Given the description of an element on the screen output the (x, y) to click on. 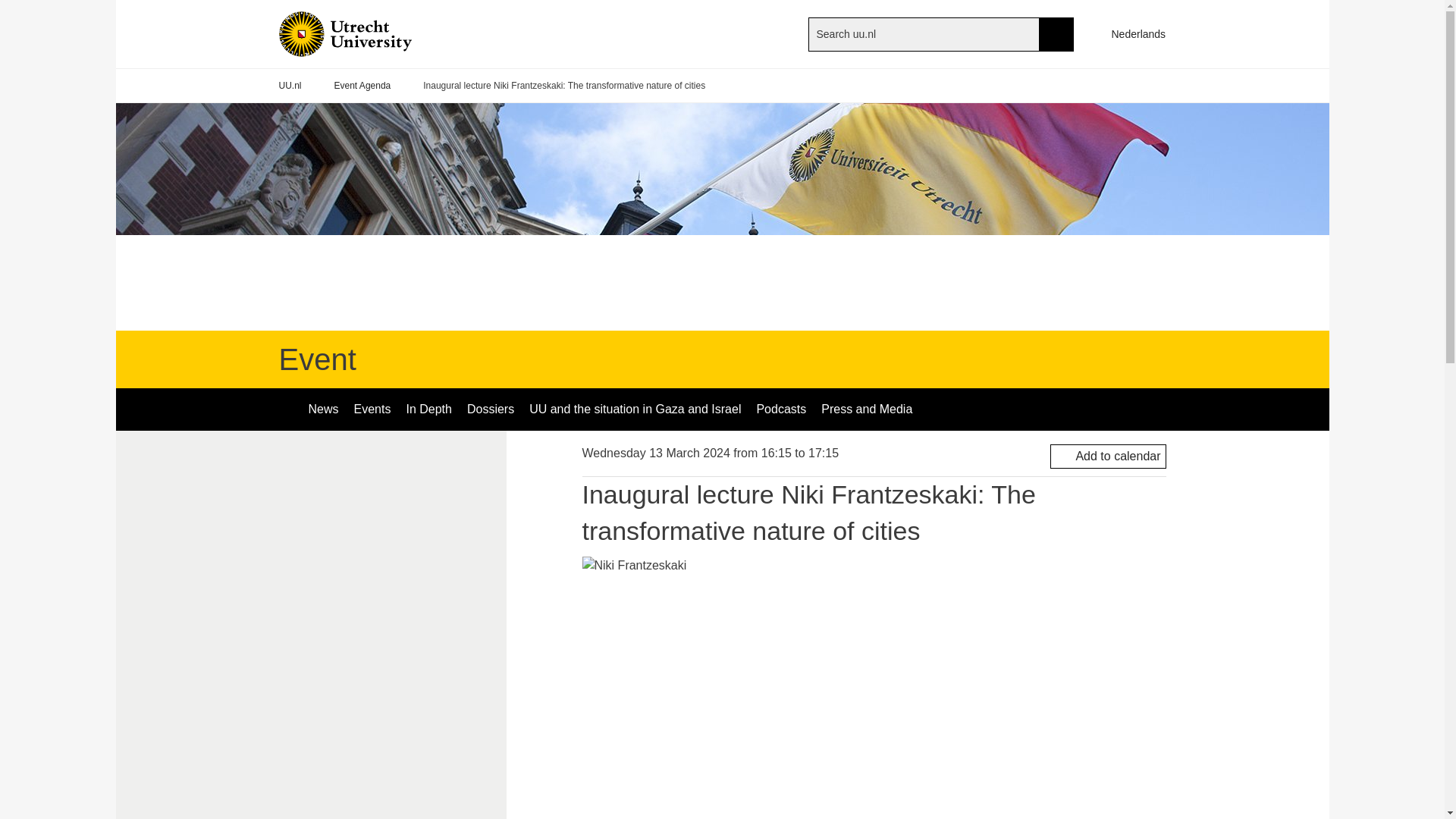
Nederlands (1131, 33)
Podcasts (780, 409)
Events (372, 409)
Skip to main content (7, 7)
News (322, 409)
In Depth (427, 409)
Add to calendar (1107, 456)
Dossiers (490, 409)
SEARCH (1056, 33)
